Given the description of an element on the screen output the (x, y) to click on. 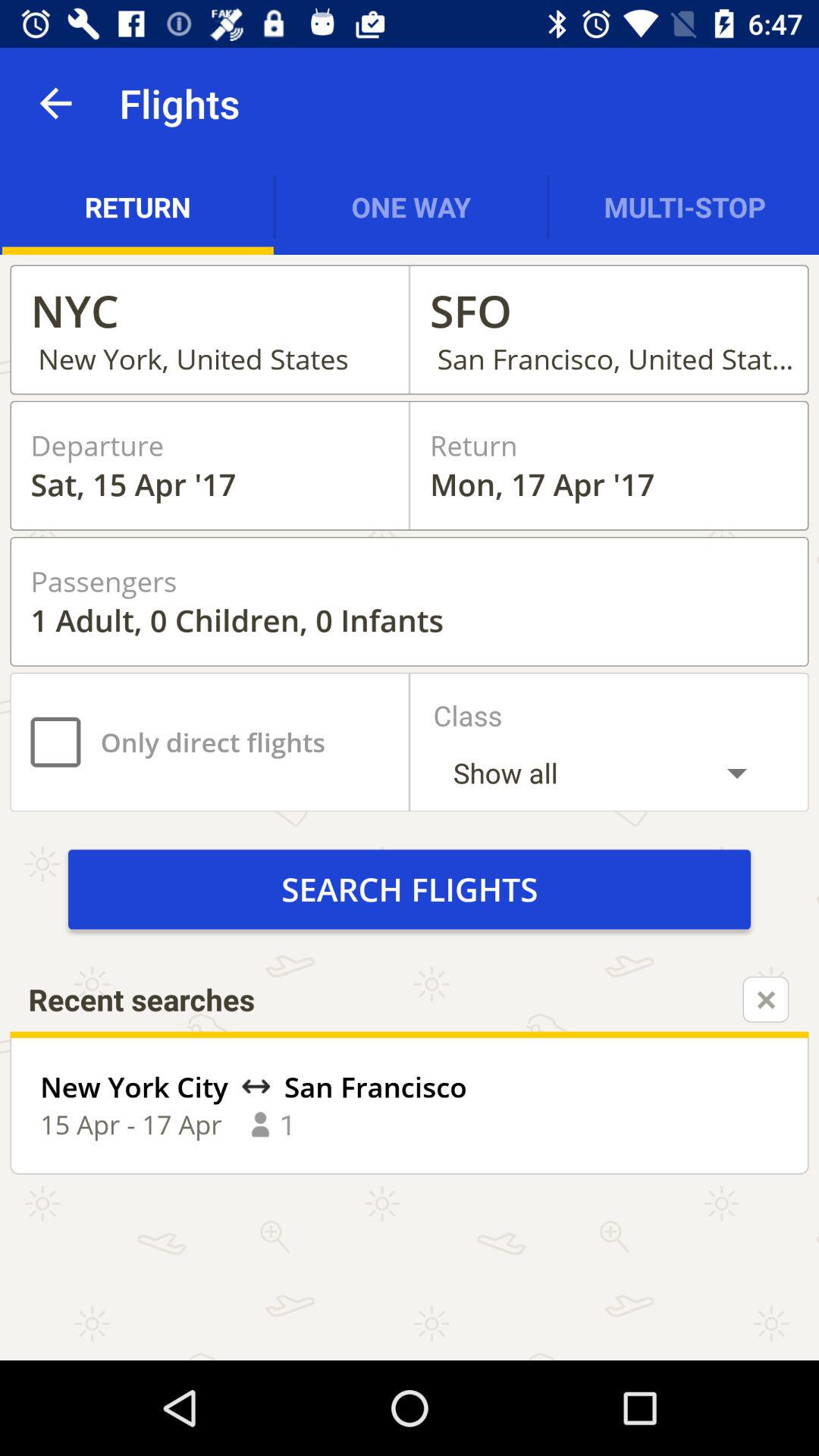
cancel recent searches (765, 999)
